Given the description of an element on the screen output the (x, y) to click on. 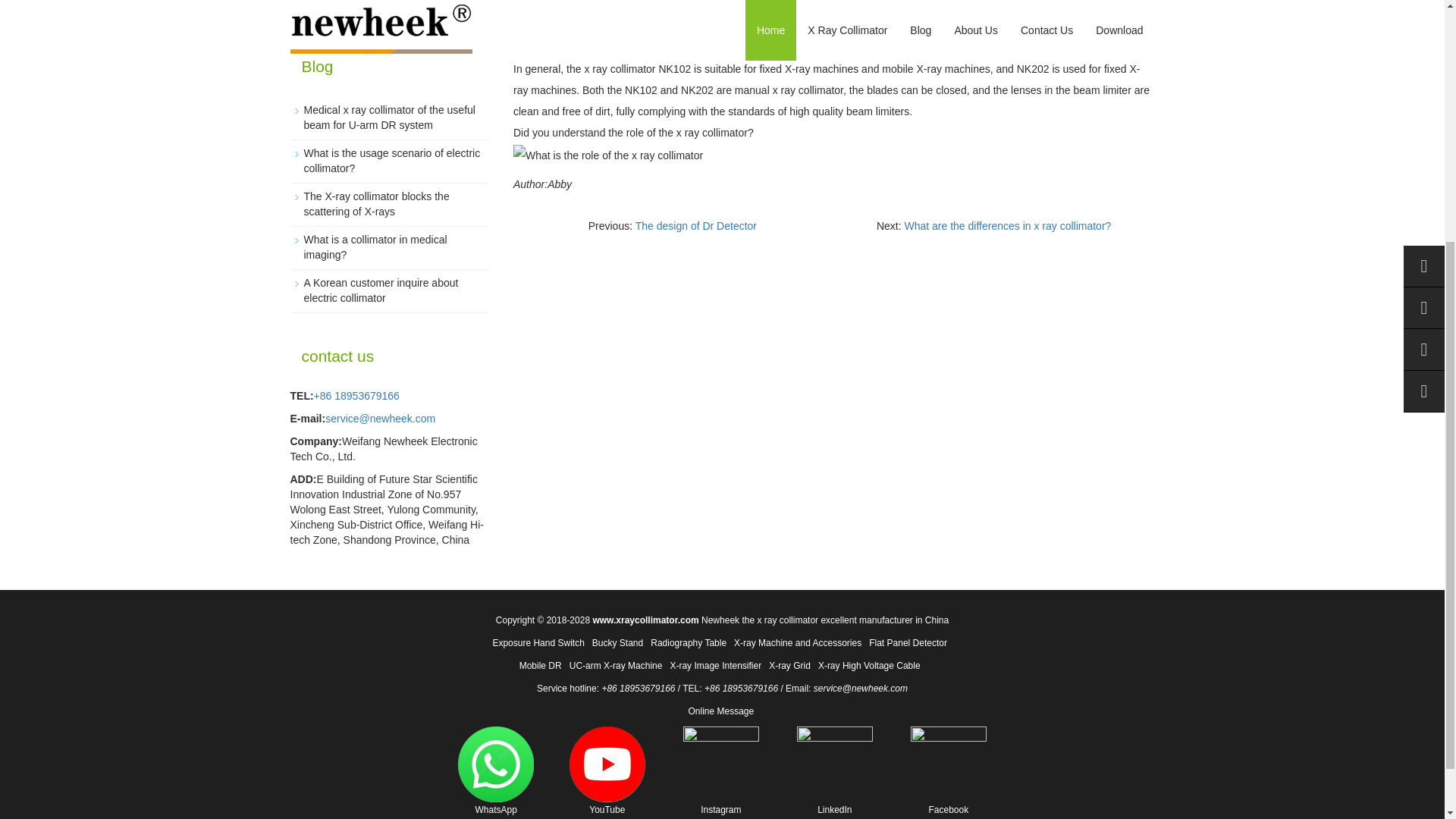
What is a collimator in medical imaging? (374, 247)
A Korean customer inquire about electric collimator (380, 289)
A Korean customer inquire about electric collimator (380, 289)
The X-ray collimator blocks the scattering of X-rays (375, 203)
The design of Dr Detector (695, 225)
What is the usage scenario of electric collimator? (391, 160)
What is a collimator in medical imaging? (374, 247)
The X-ray collimator blocks the scattering of X-rays (375, 203)
